Given the description of an element on the screen output the (x, y) to click on. 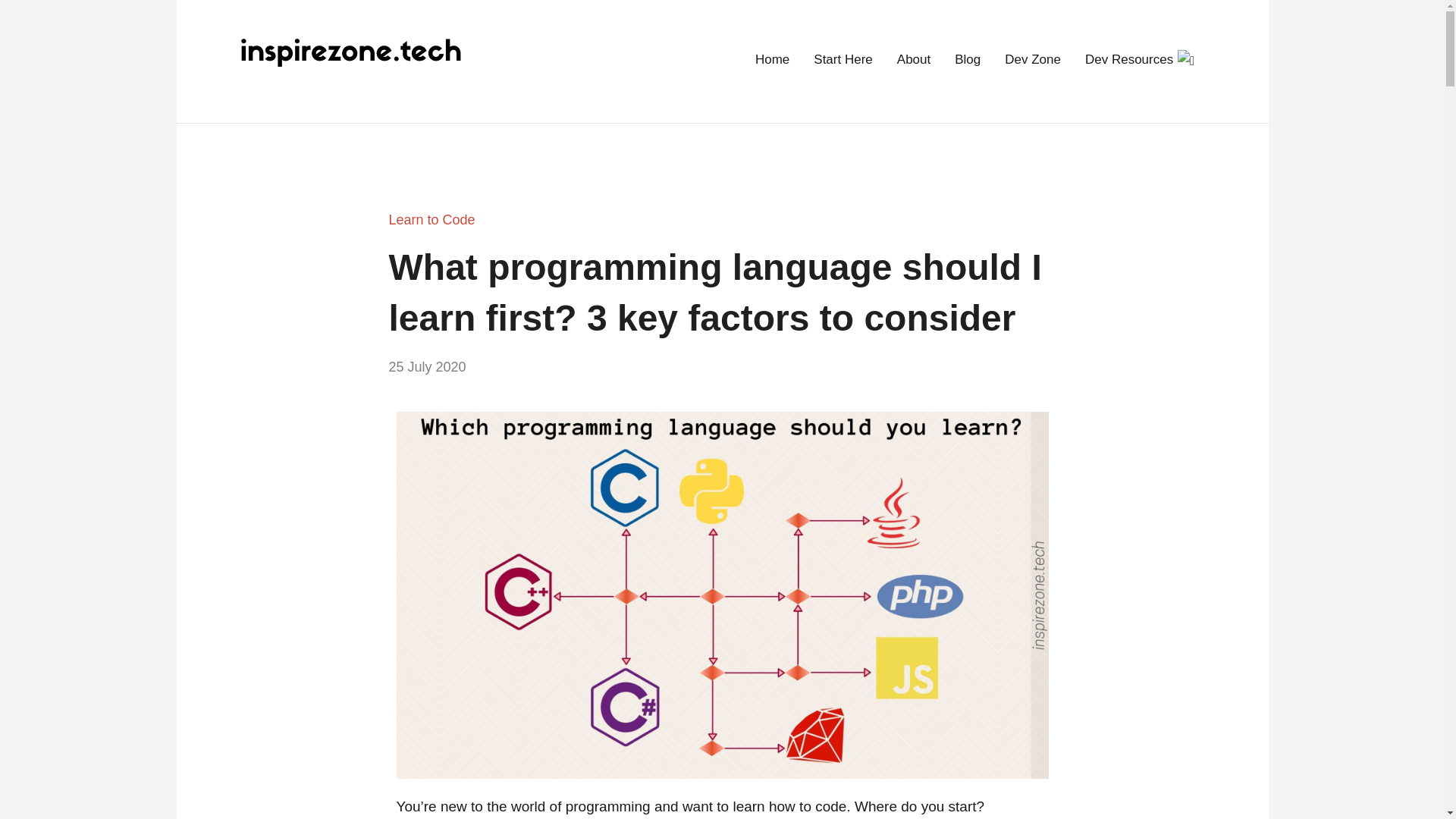
Start Here (842, 60)
Dev Resources (1139, 60)
25 July 2020 (426, 366)
Learn to Code (431, 219)
About (913, 60)
Dev Zone (1032, 60)
Home (772, 60)
